Given the description of an element on the screen output the (x, y) to click on. 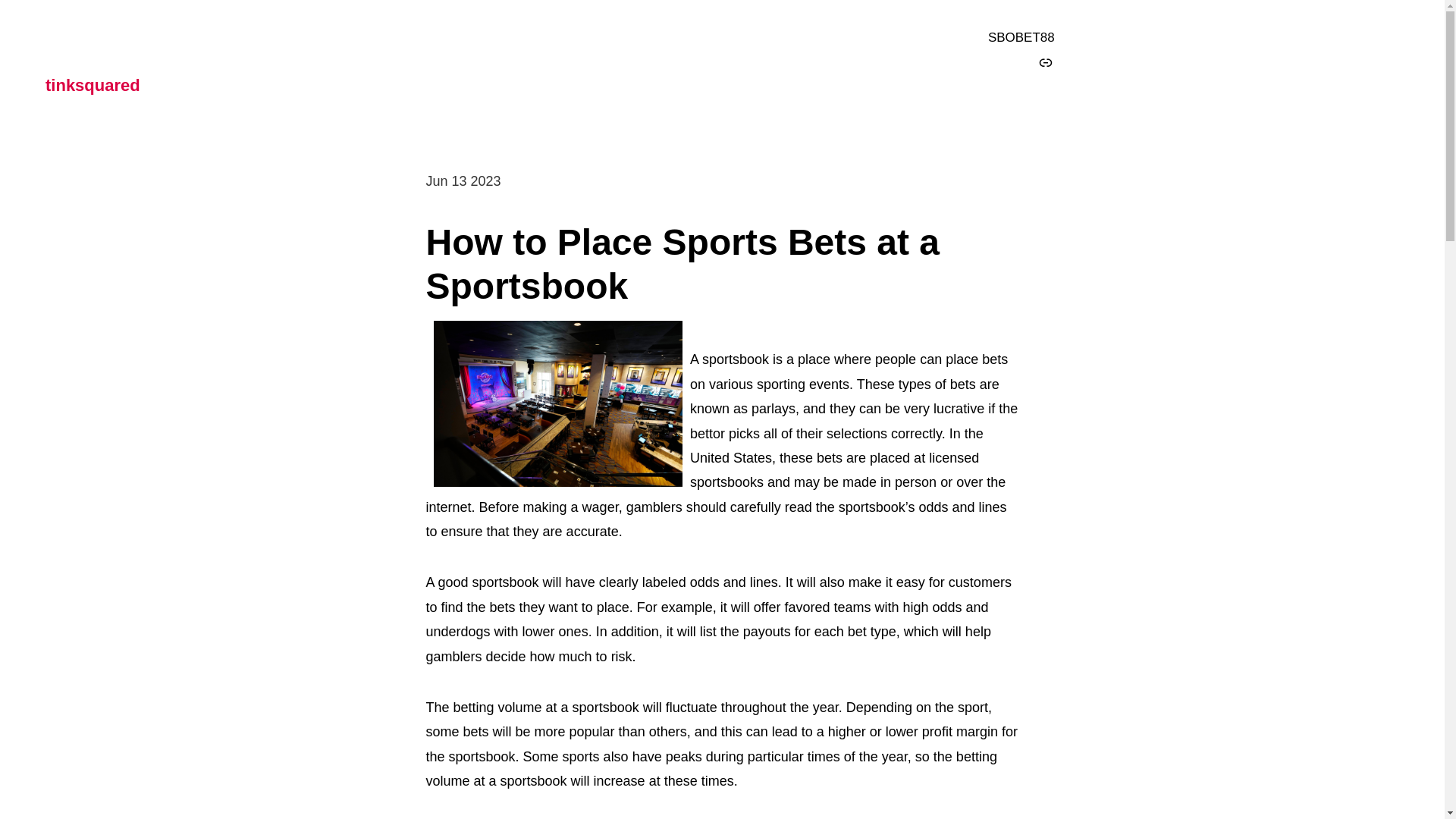
Jun 13 2023 (463, 181)
SBOBET88 (1021, 38)
tinksquared (92, 85)
